Given the description of an element on the screen output the (x, y) to click on. 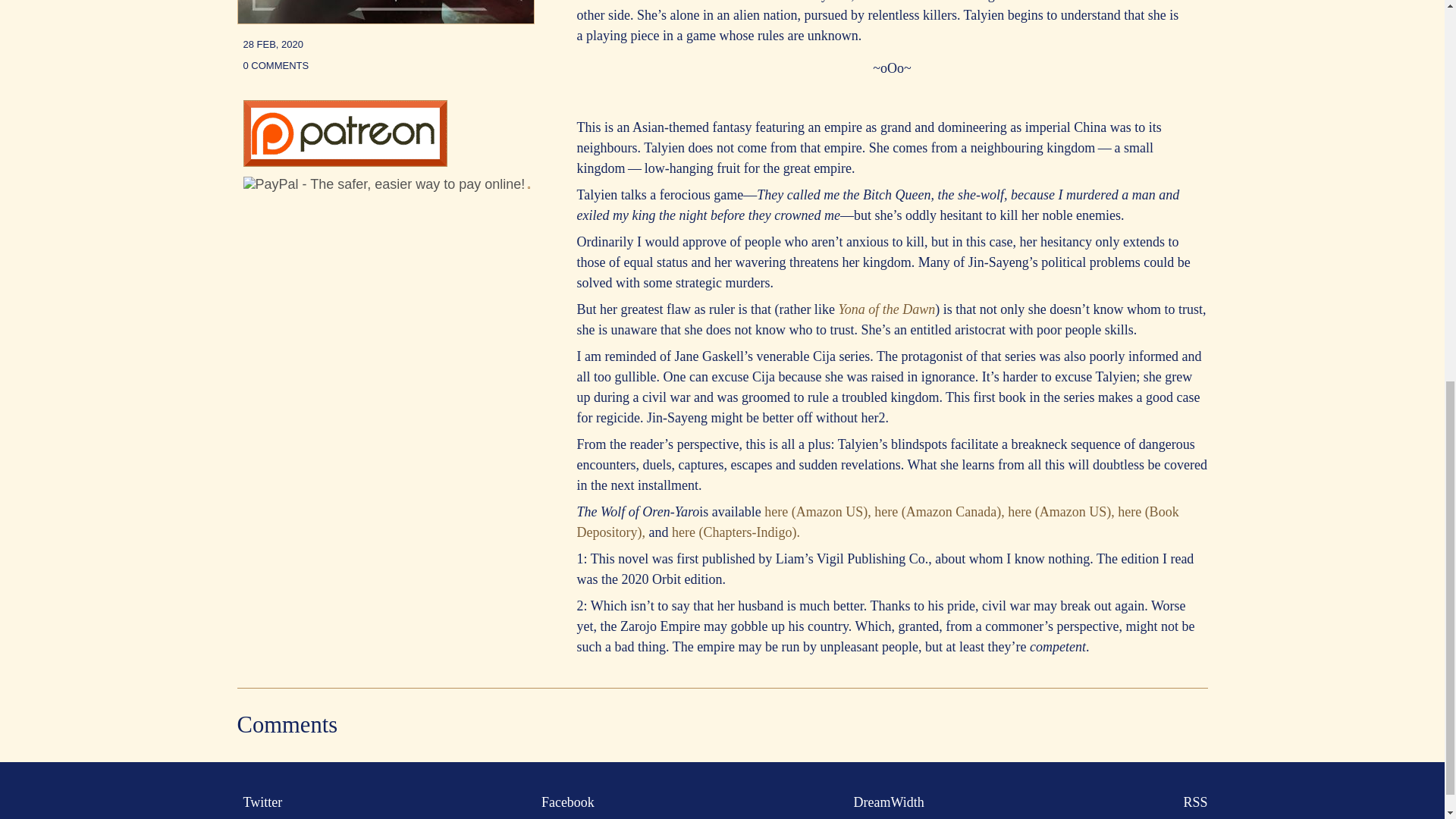
Twitter (258, 801)
DreamWidth (885, 801)
Yona of the Dawn (886, 309)
RSS (1191, 801)
Facebook (564, 801)
Patreon (344, 161)
